Given the description of an element on the screen output the (x, y) to click on. 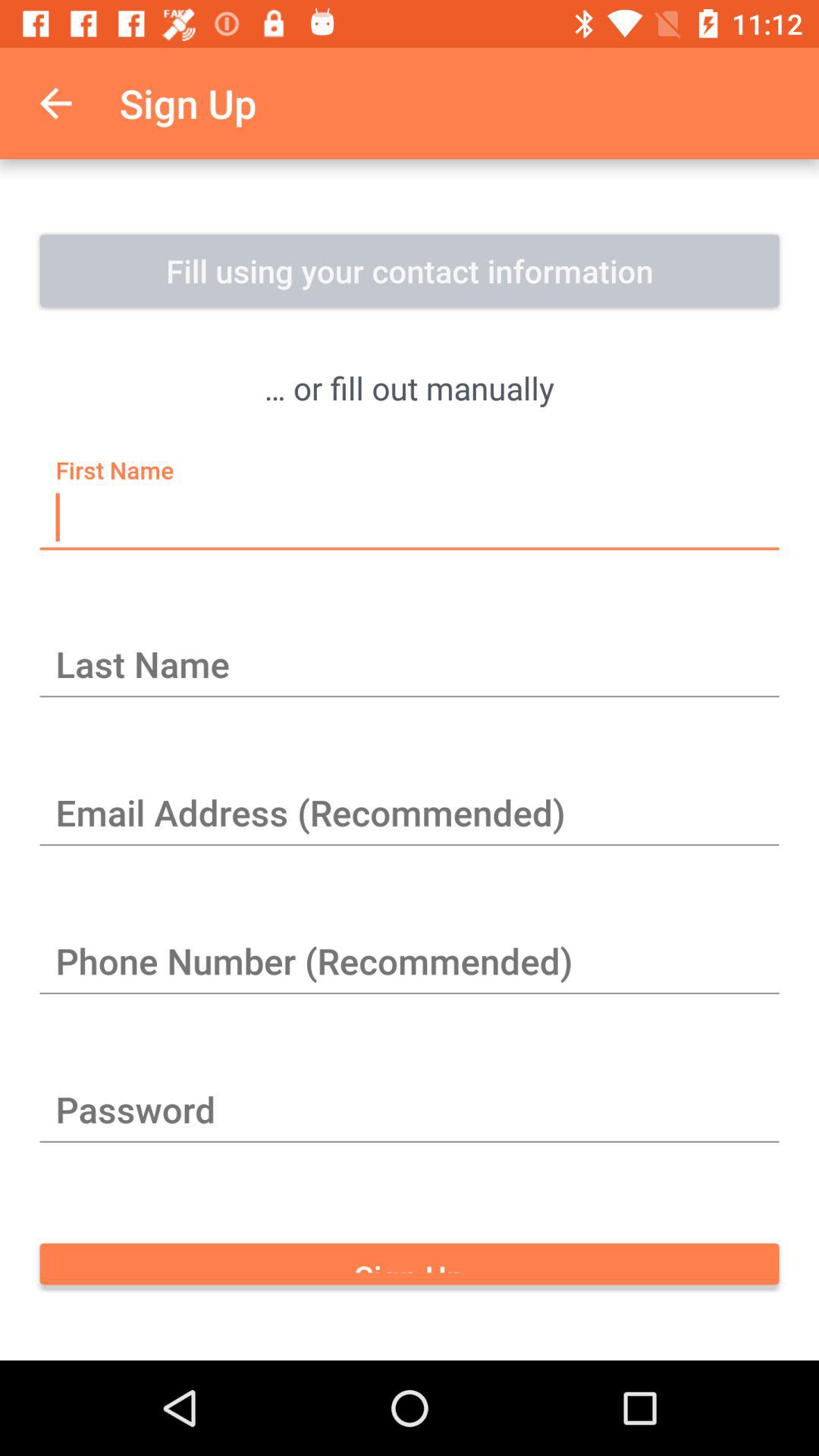
press the fill using your (409, 270)
